Given the description of an element on the screen output the (x, y) to click on. 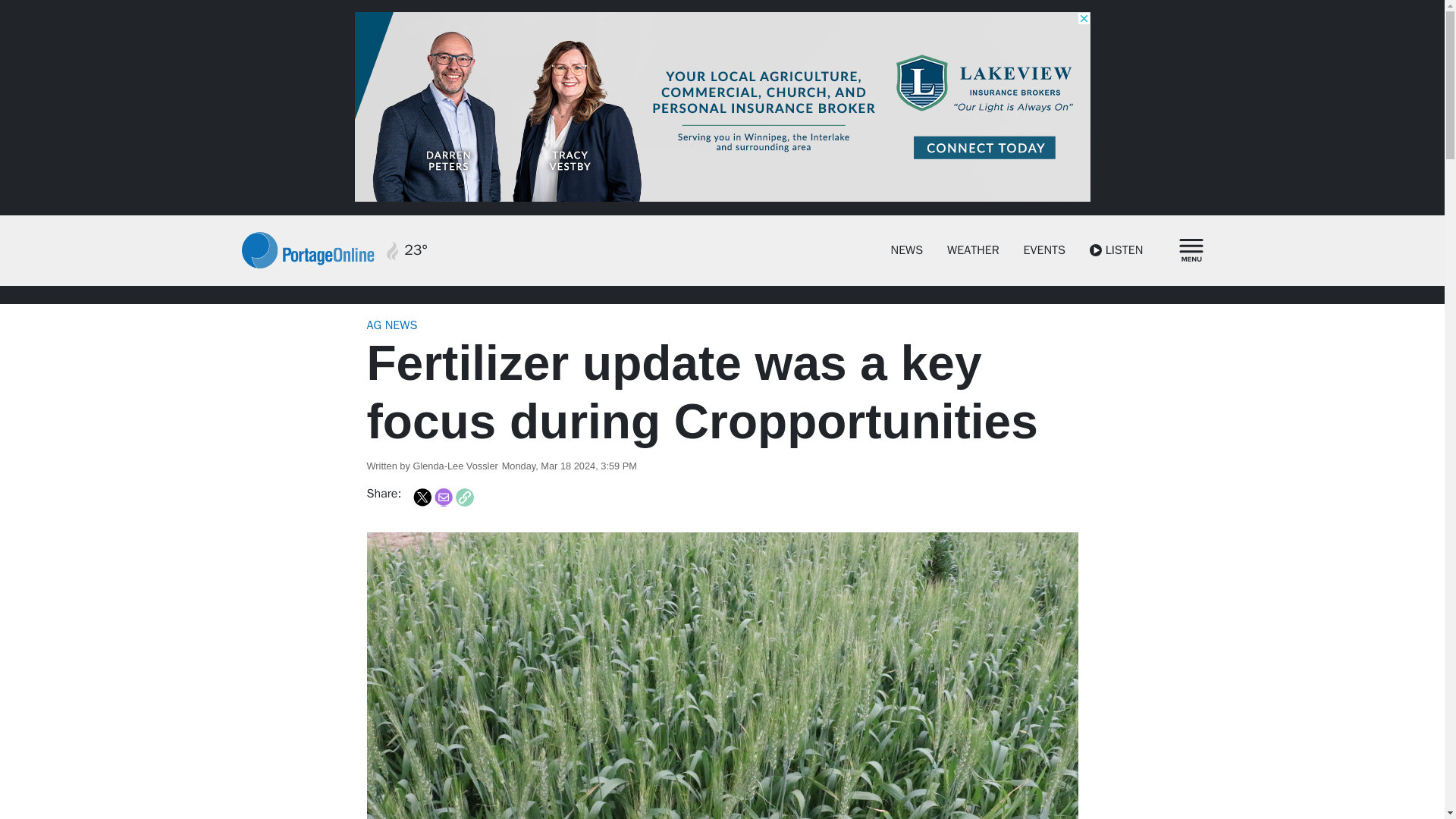
Share to Email (442, 497)
Copy Link (464, 497)
